Given the description of an element on the screen output the (x, y) to click on. 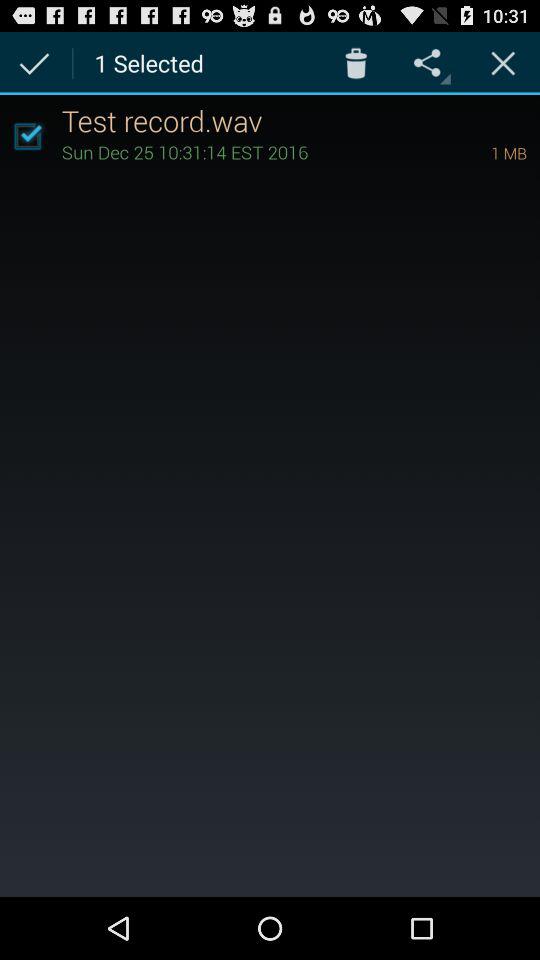
turn on the icon next to sun dec 25 item (481, 152)
